Given the description of an element on the screen output the (x, y) to click on. 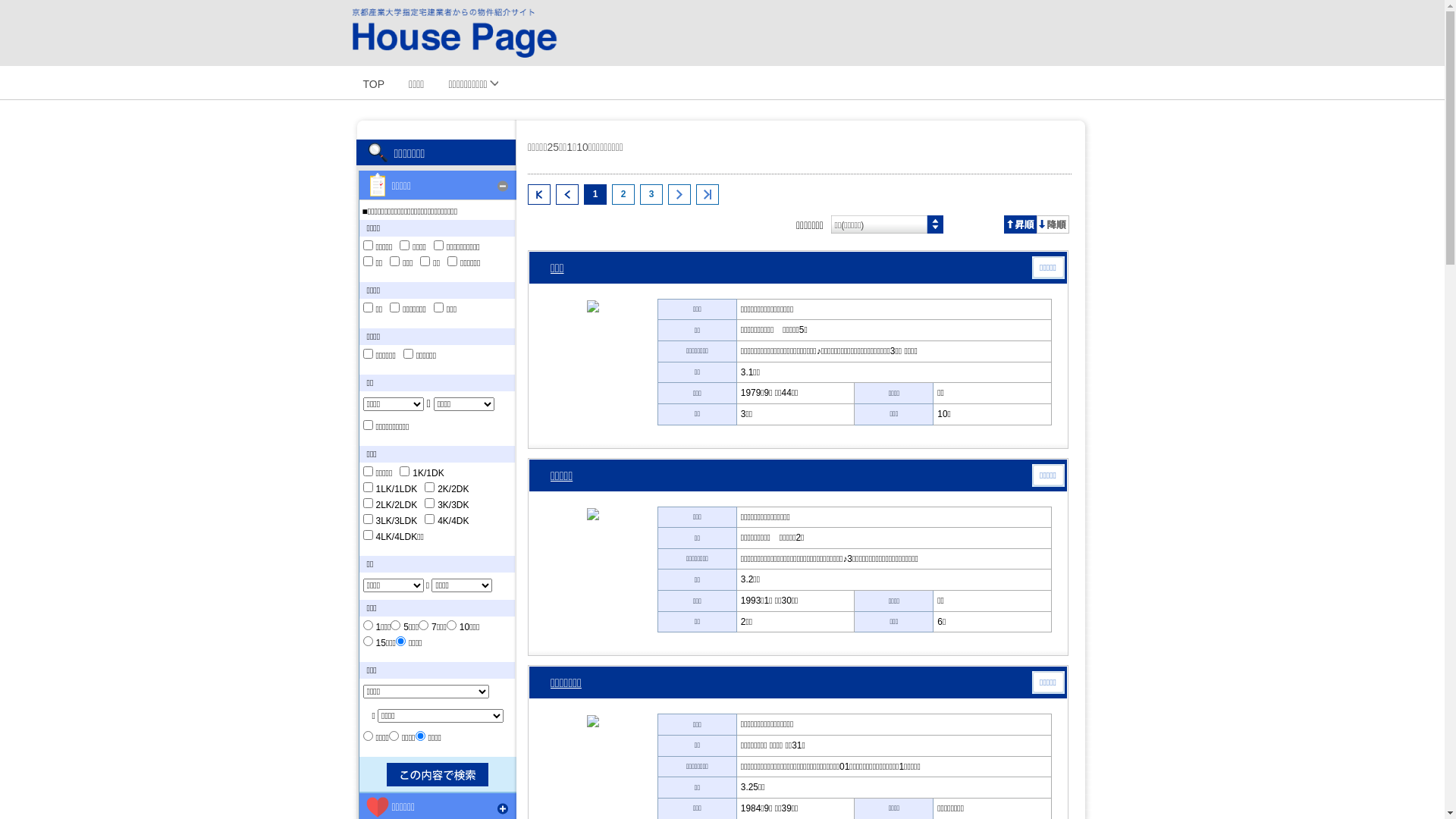
TOP Element type: text (373, 82)
